Given the description of an element on the screen output the (x, y) to click on. 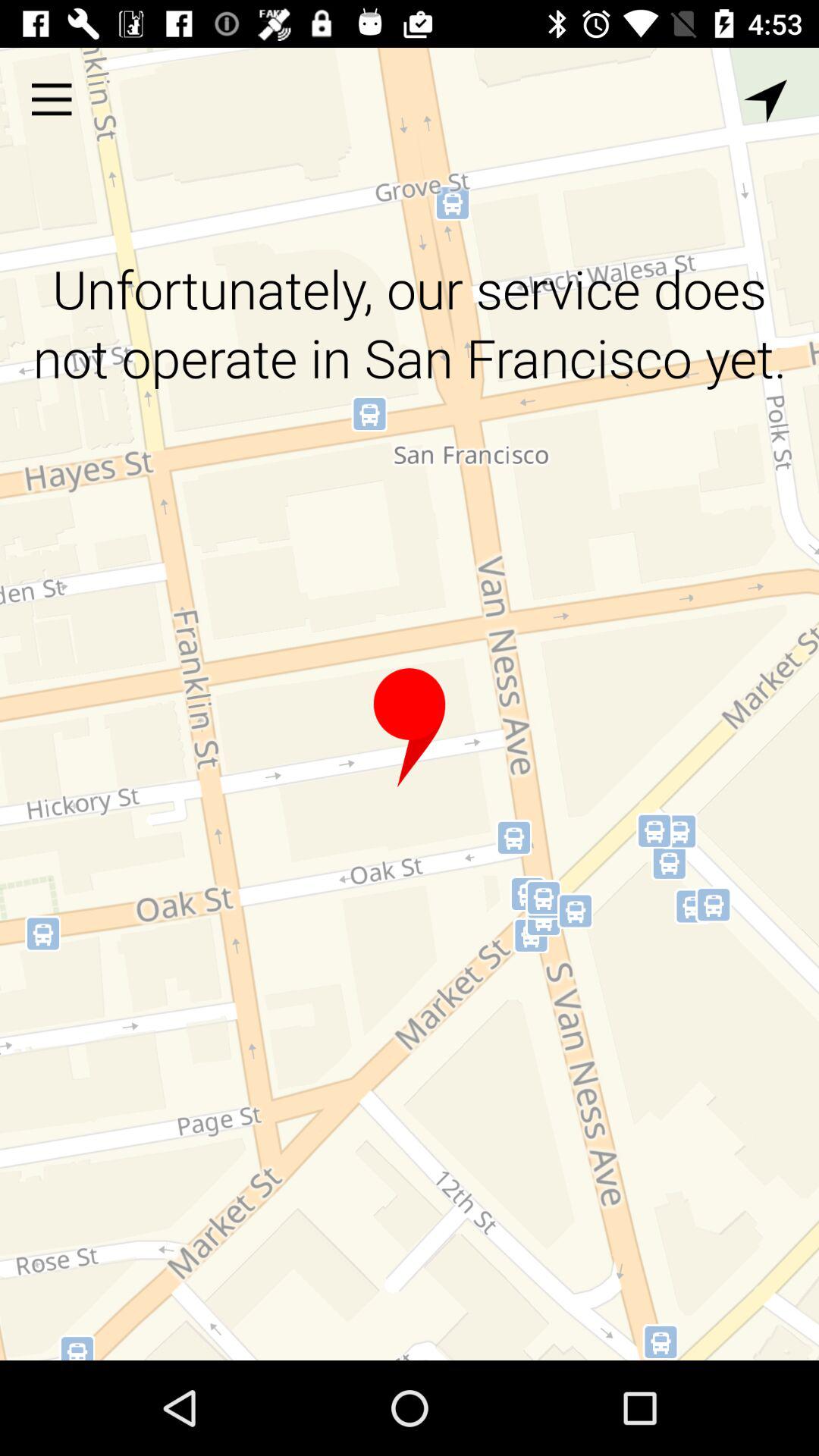
tap the item above the unfortunately our service item (51, 99)
